Given the description of an element on the screen output the (x, y) to click on. 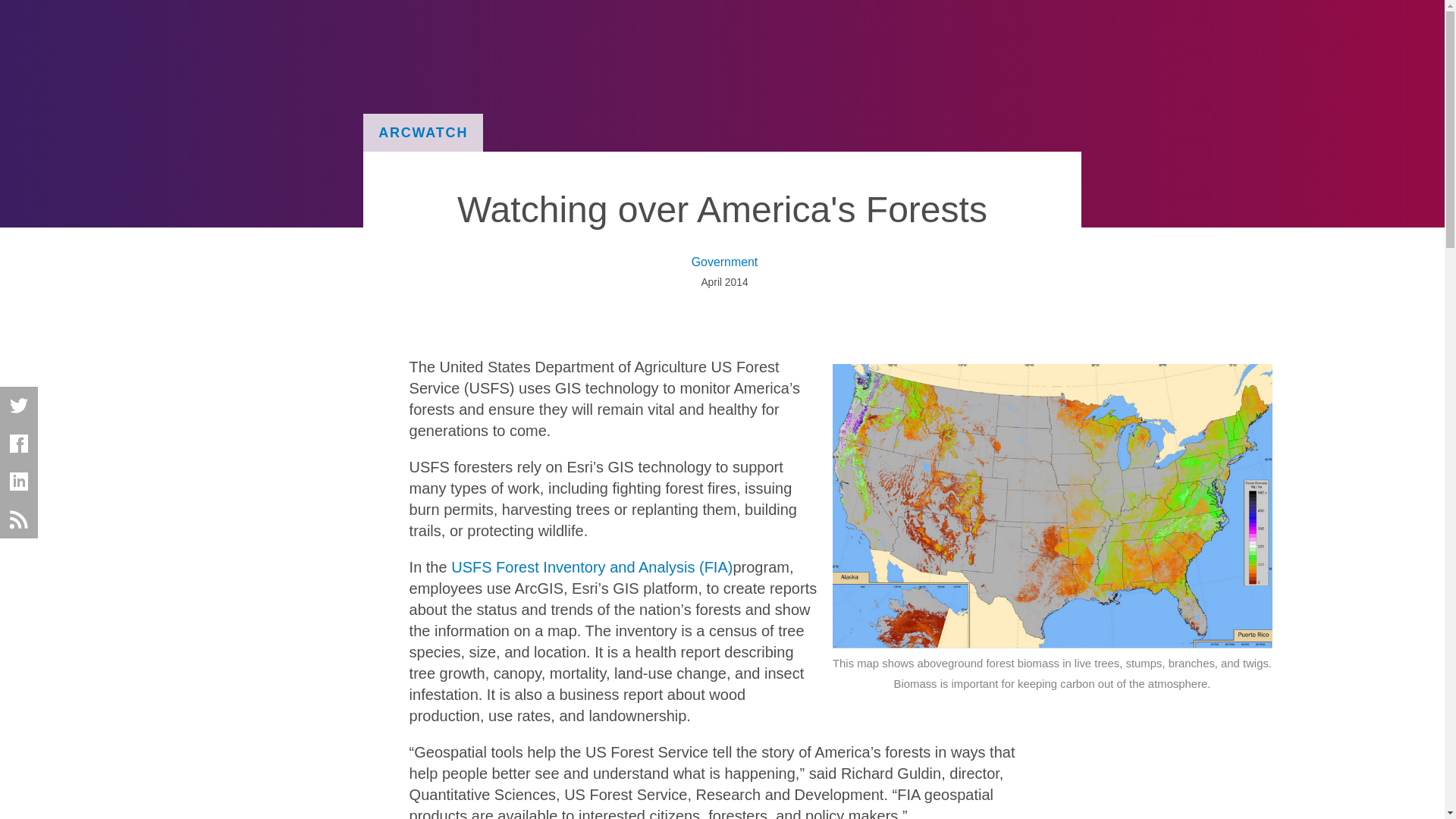
ARCWATCH (422, 132)
Government (722, 261)
